Given the description of an element on the screen output the (x, y) to click on. 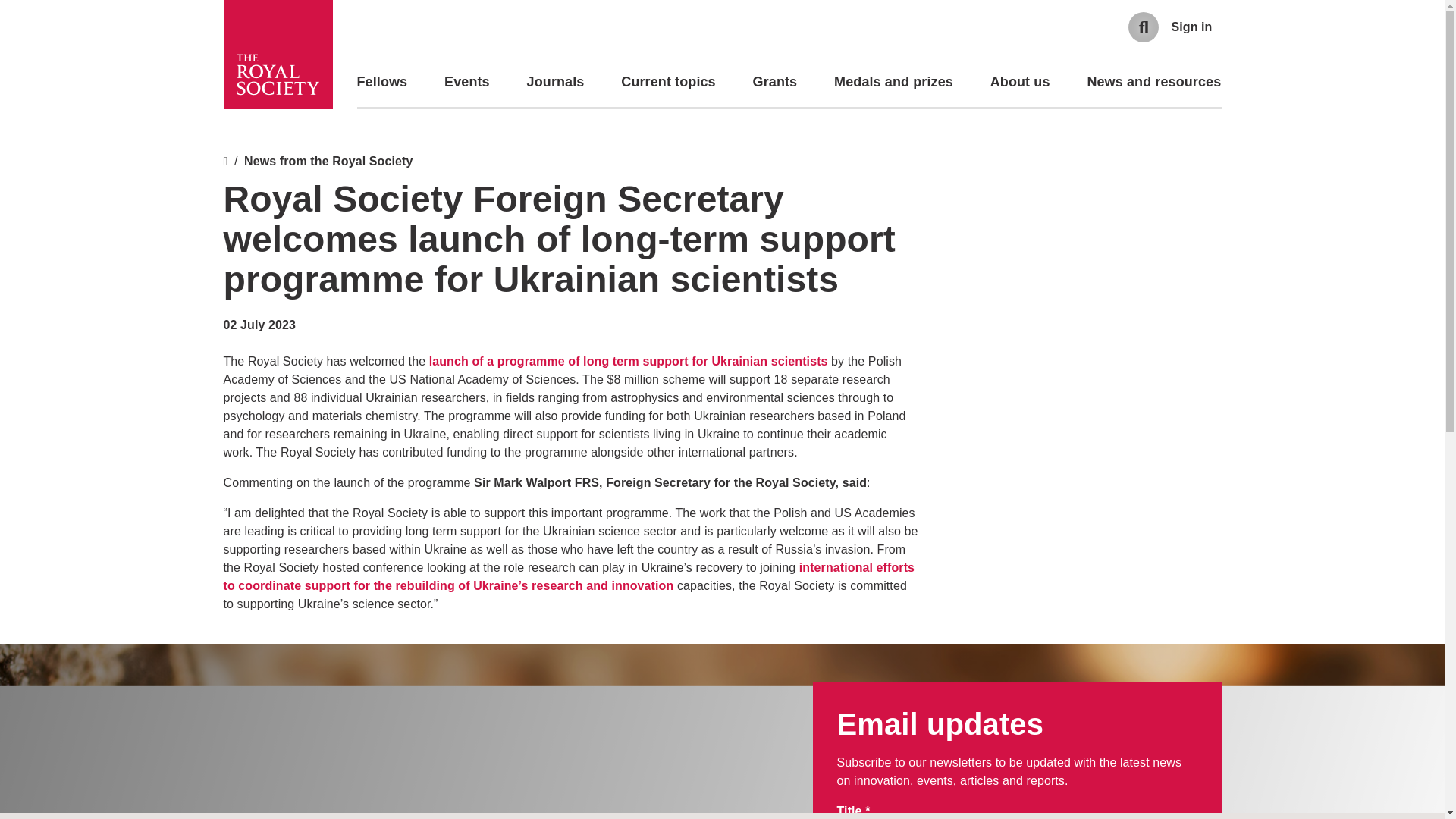
Current topics (667, 81)
Fellows (381, 81)
Journals (556, 81)
